Given the description of an element on the screen output the (x, y) to click on. 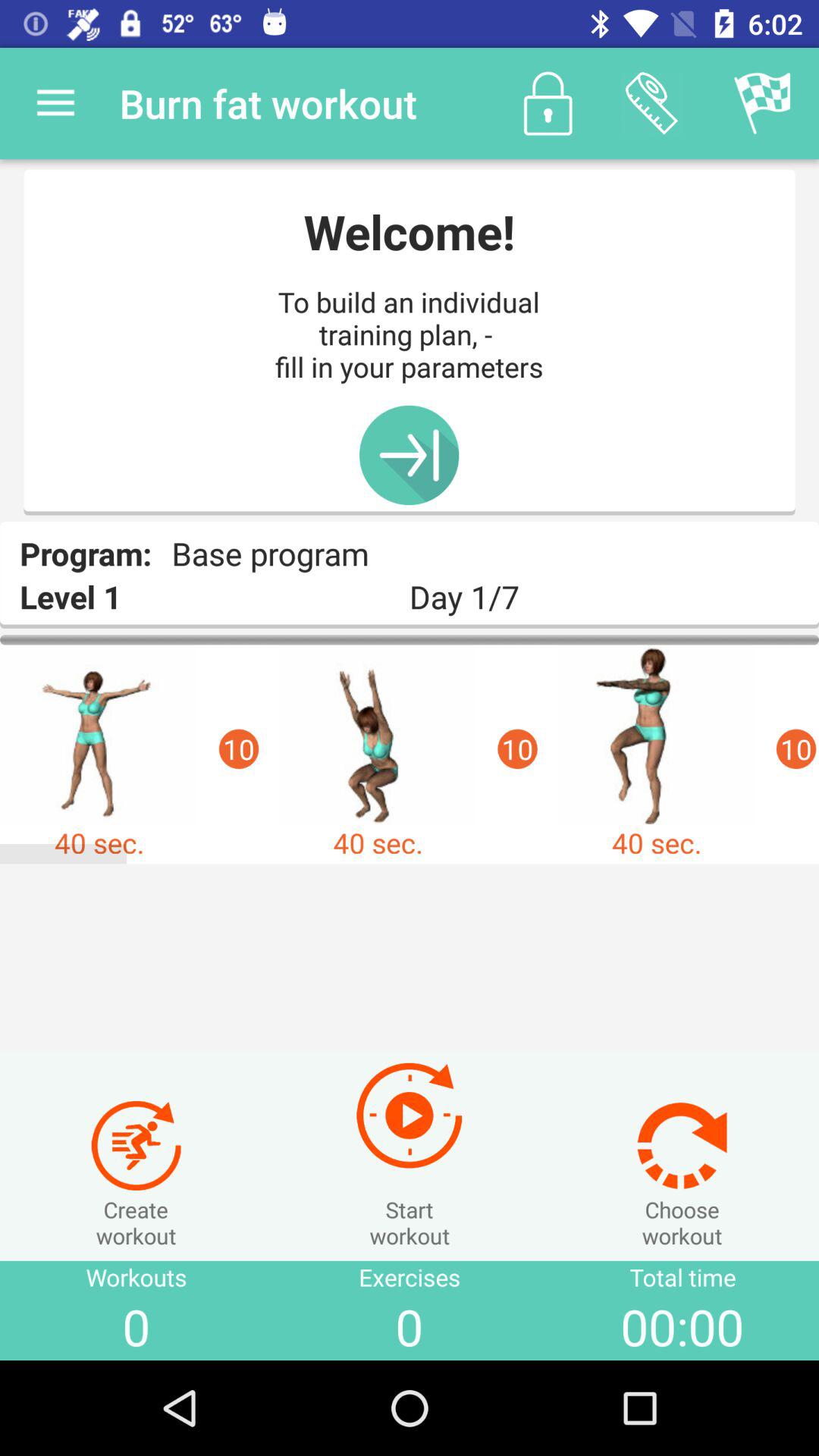
tap item below the to build an (408, 455)
